Given the description of an element on the screen output the (x, y) to click on. 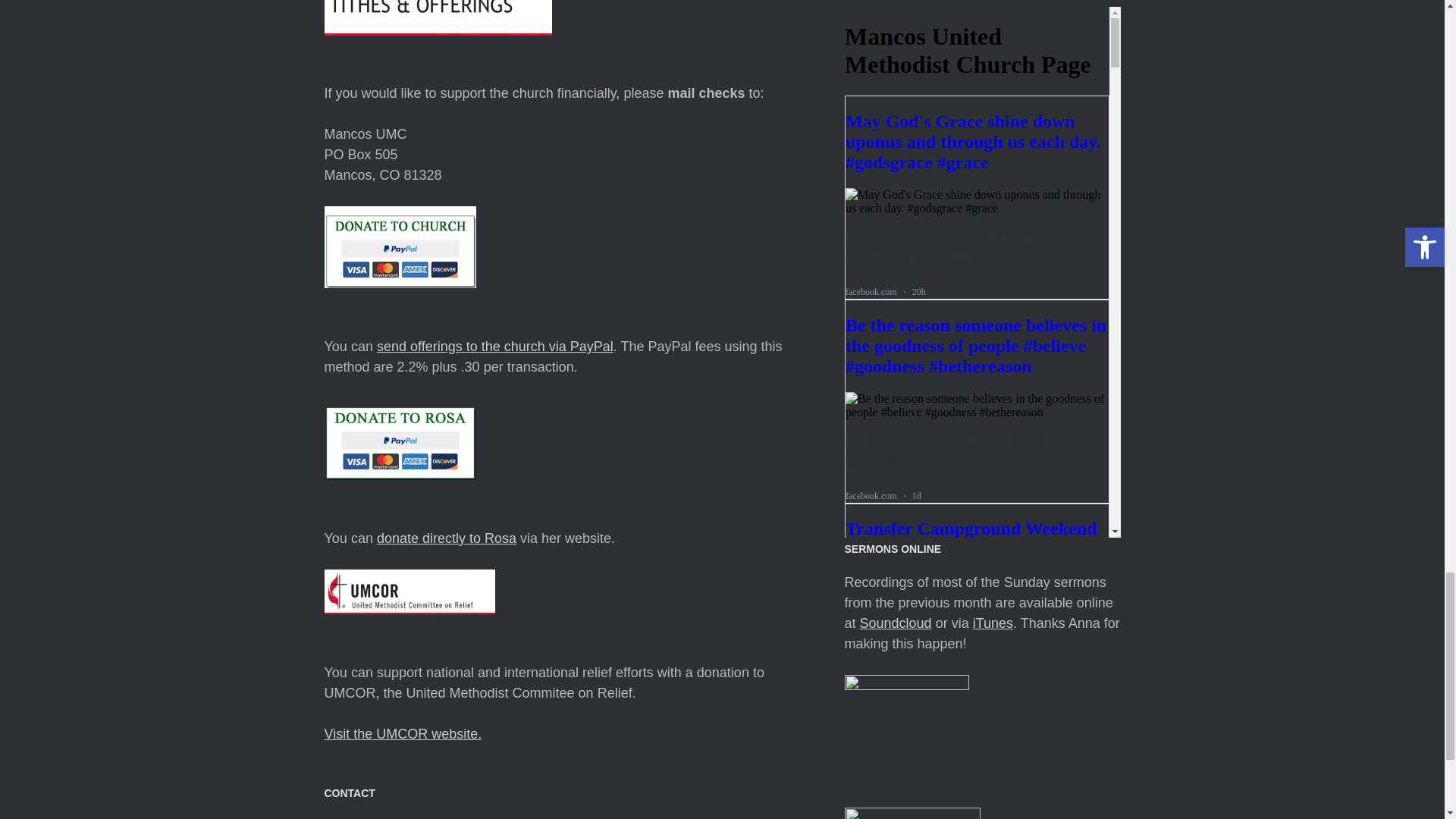
Visit the UMCOR website. (402, 734)
Soundcloud (895, 622)
donate directly to Rosa (446, 538)
iTunes (992, 622)
send offerings to the church via PayPal (494, 346)
